Given the description of an element on the screen output the (x, y) to click on. 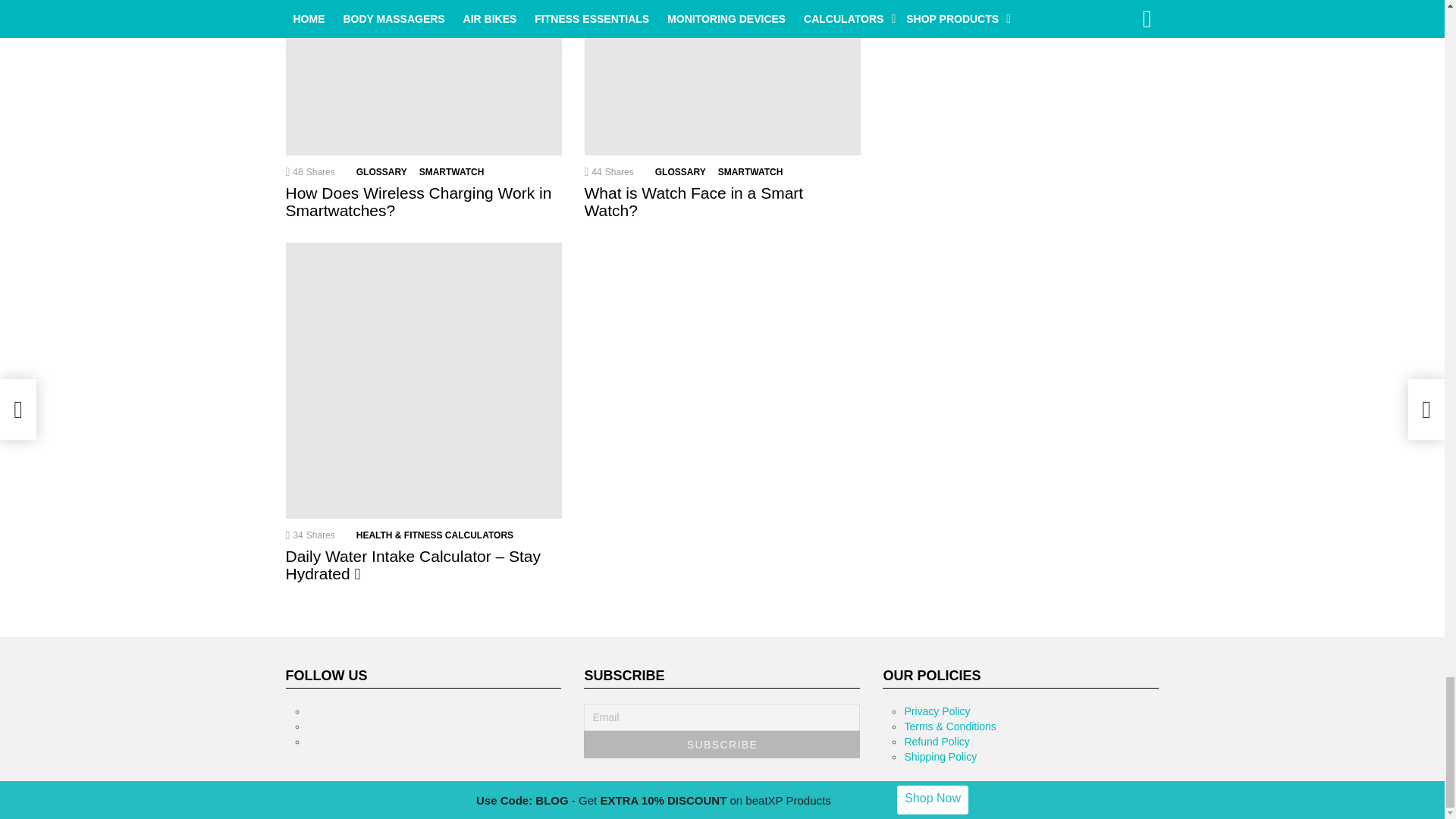
Subscribe (721, 744)
